Given the description of an element on the screen output the (x, y) to click on. 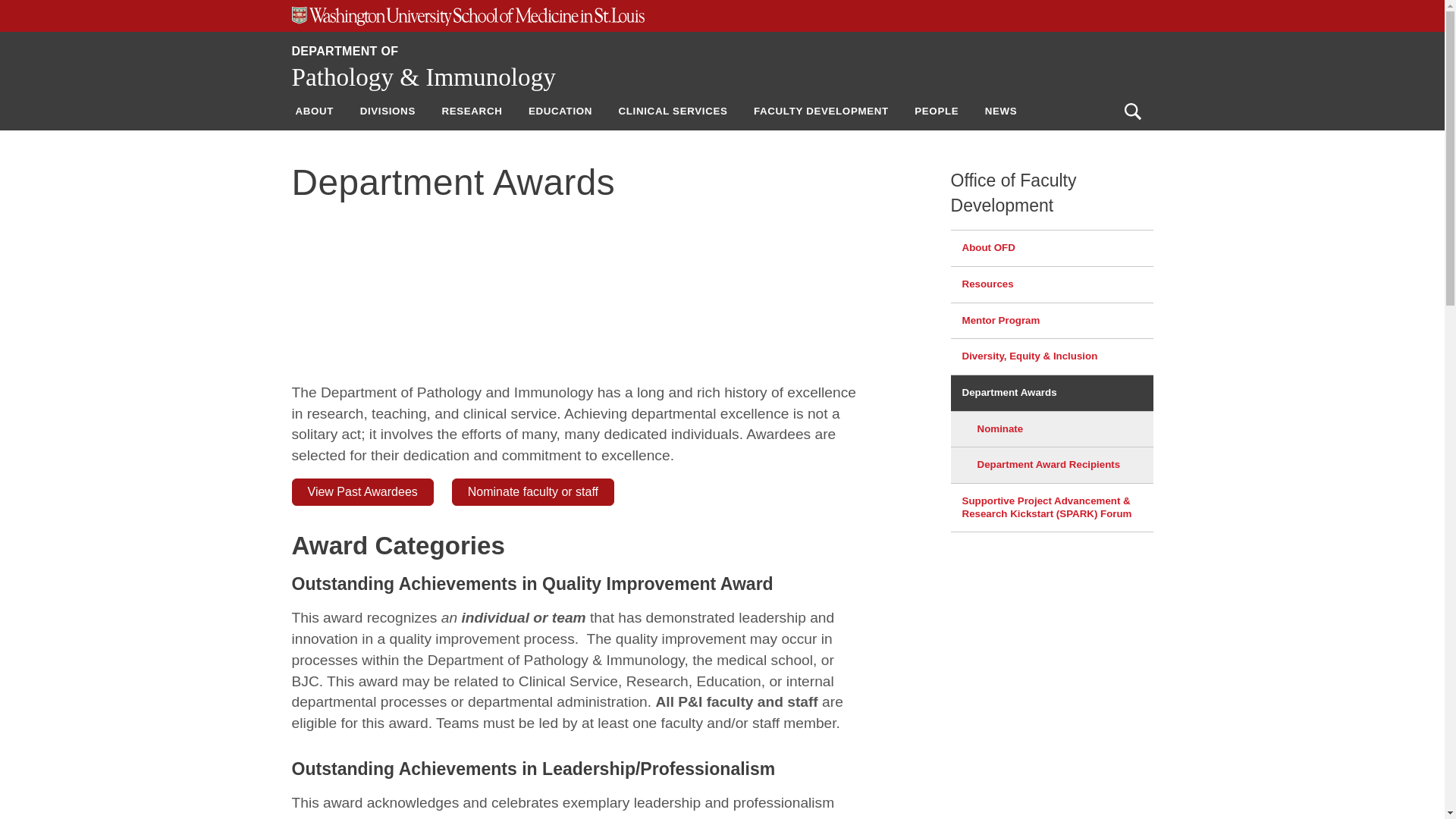
RESEARCH (471, 110)
DIVISIONS (387, 110)
EDUCATION (560, 110)
ABOUT (314, 110)
